Given the description of an element on the screen output the (x, y) to click on. 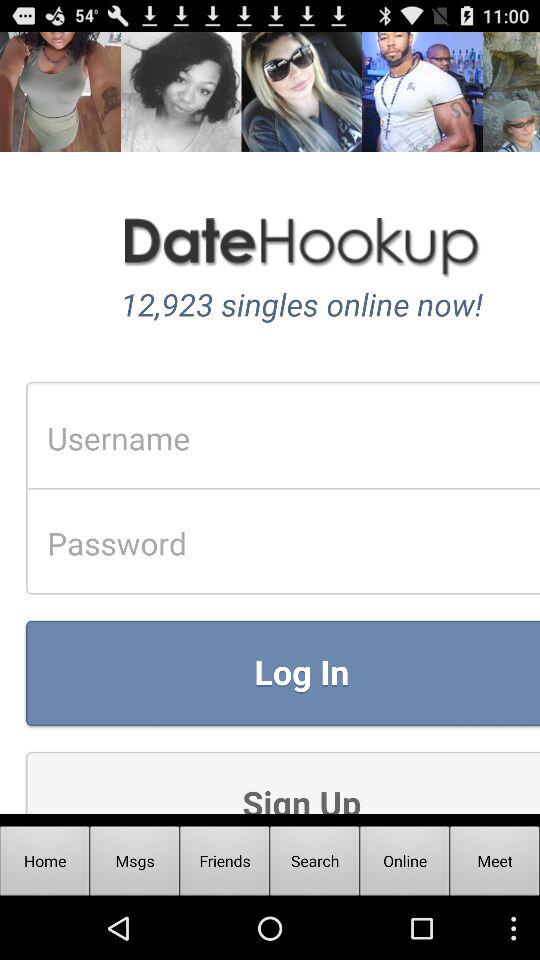
description (270, 422)
